Given the description of an element on the screen output the (x, y) to click on. 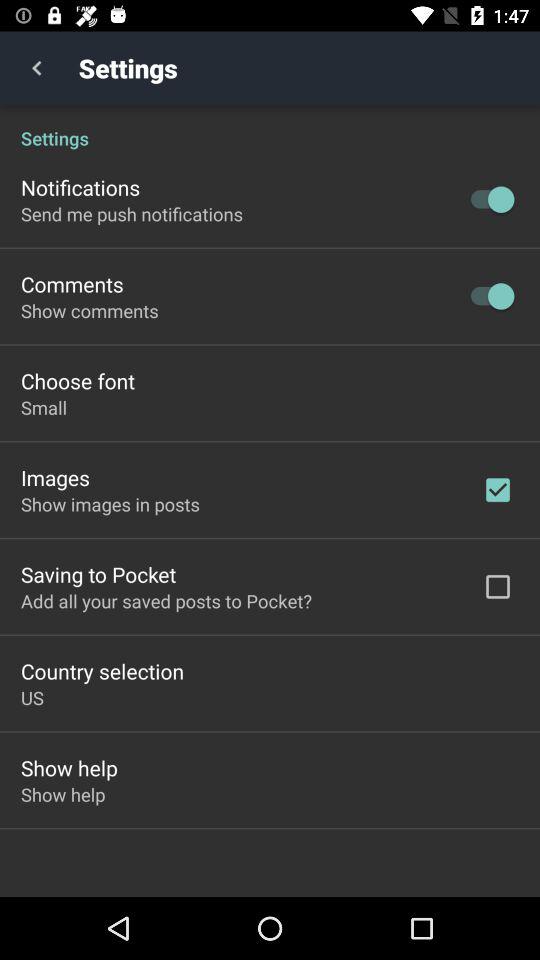
swipe until send me push (131, 213)
